Given the description of an element on the screen output the (x, y) to click on. 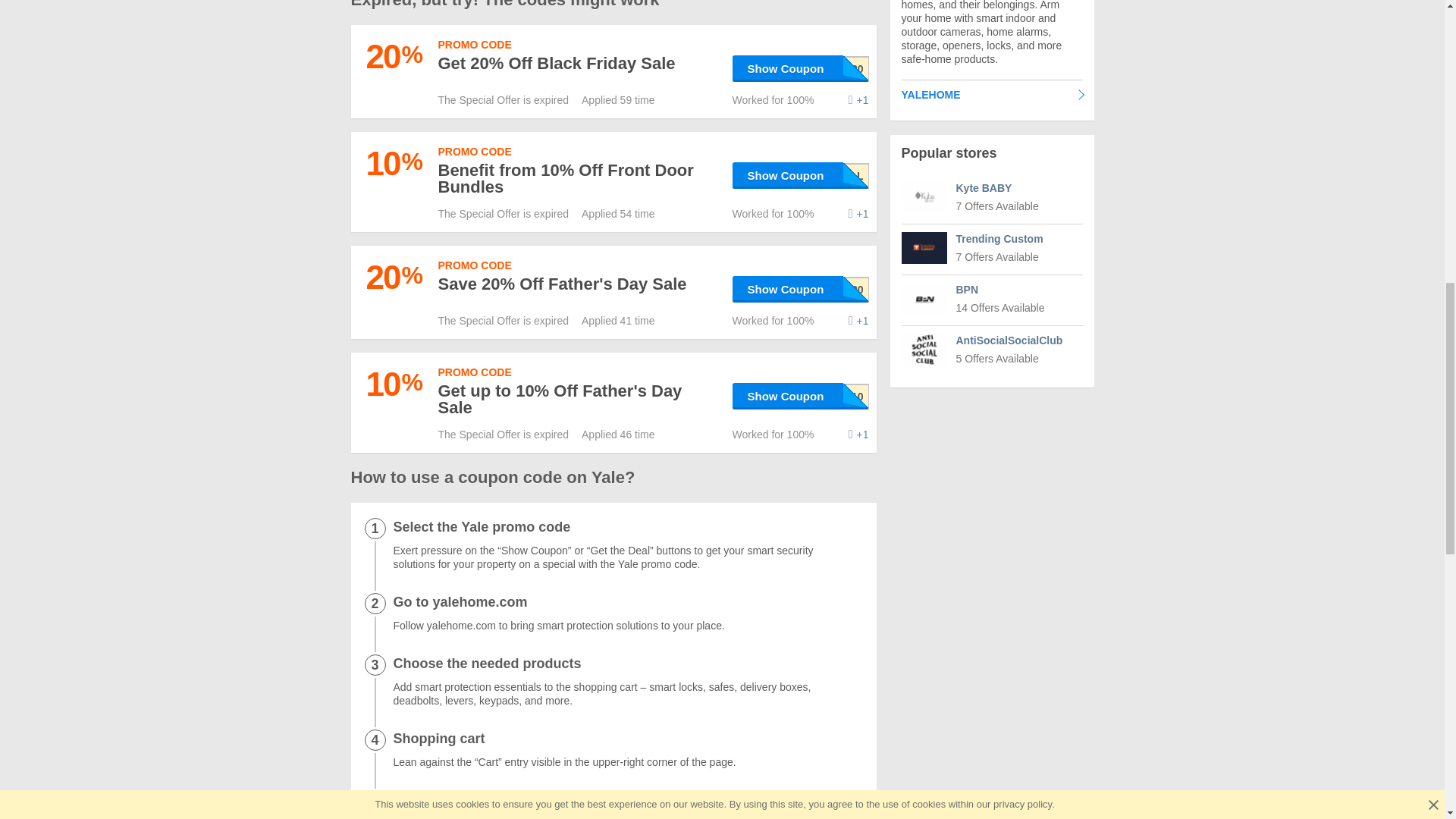
Leave your comment  (858, 213)
Leave your comment  (858, 434)
Show Coupon (800, 396)
Leave your comment  (858, 320)
Show Coupon (800, 68)
Leave your comment  (858, 100)
Show Coupon (800, 289)
Show Coupon (800, 175)
Kyte BABY (923, 196)
